Given the description of an element on the screen output the (x, y) to click on. 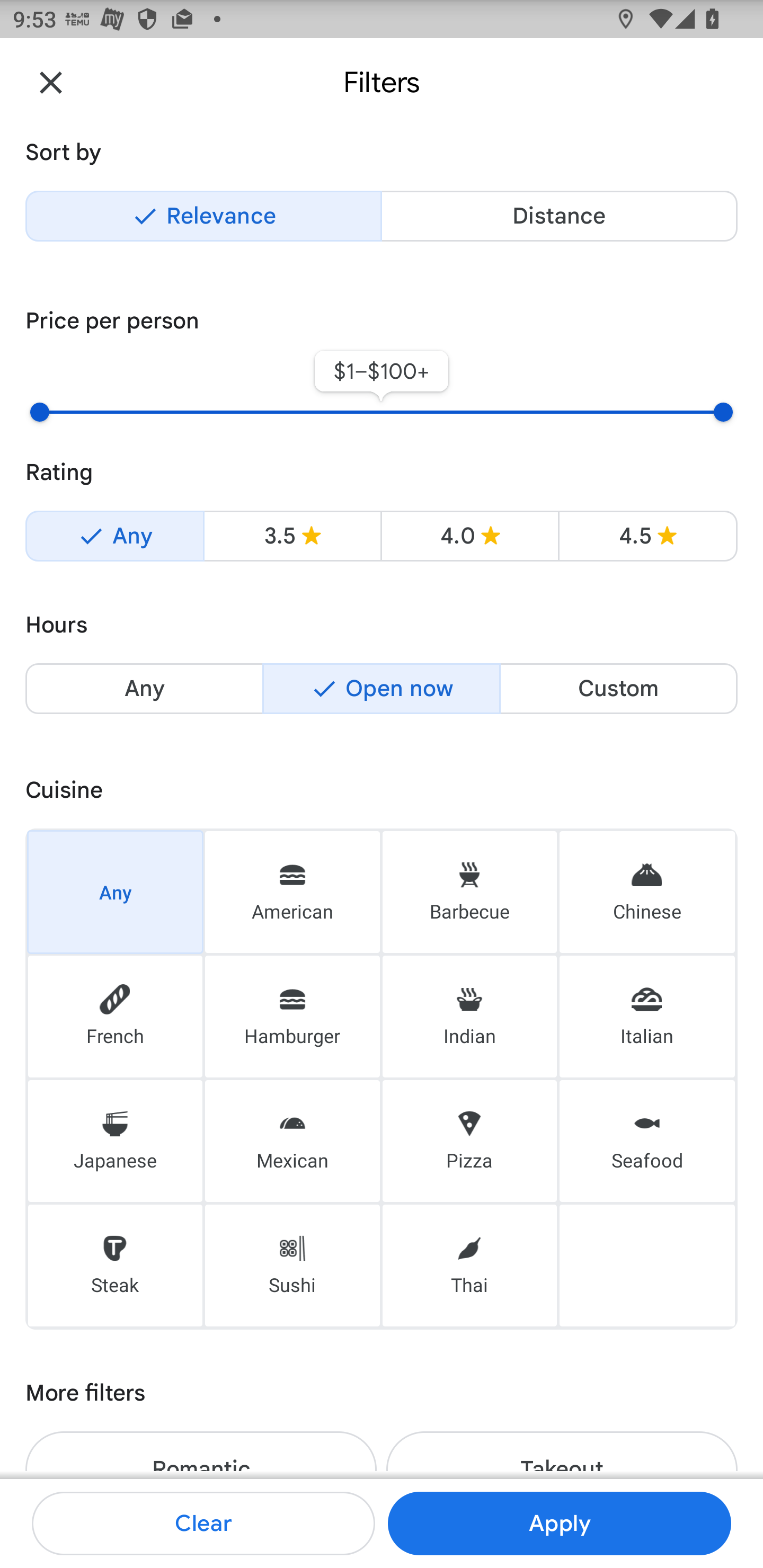
Close menu (50, 81)
Relevance (203, 216)
Distance (558, 216)
Any (114, 535)
3.5 stars (292, 535)
4.0 stars (469, 535)
4.5 stars (647, 535)
Any (144, 688)
Open now (381, 688)
Custom (618, 688)
Any (114, 891)
American (291, 891)
Barbecue (469, 891)
Chinese (647, 891)
French (114, 1016)
Hamburger (291, 1016)
Indian (469, 1016)
Italian (647, 1016)
Japanese (114, 1140)
Mexican (291, 1140)
Pizza (469, 1140)
Seafood (647, 1140)
Steak (114, 1266)
Sushi (291, 1266)
Thai (469, 1266)
Clear Clear Clear (203, 1522)
Apply Apply Apply (558, 1522)
